Given the description of an element on the screen output the (x, y) to click on. 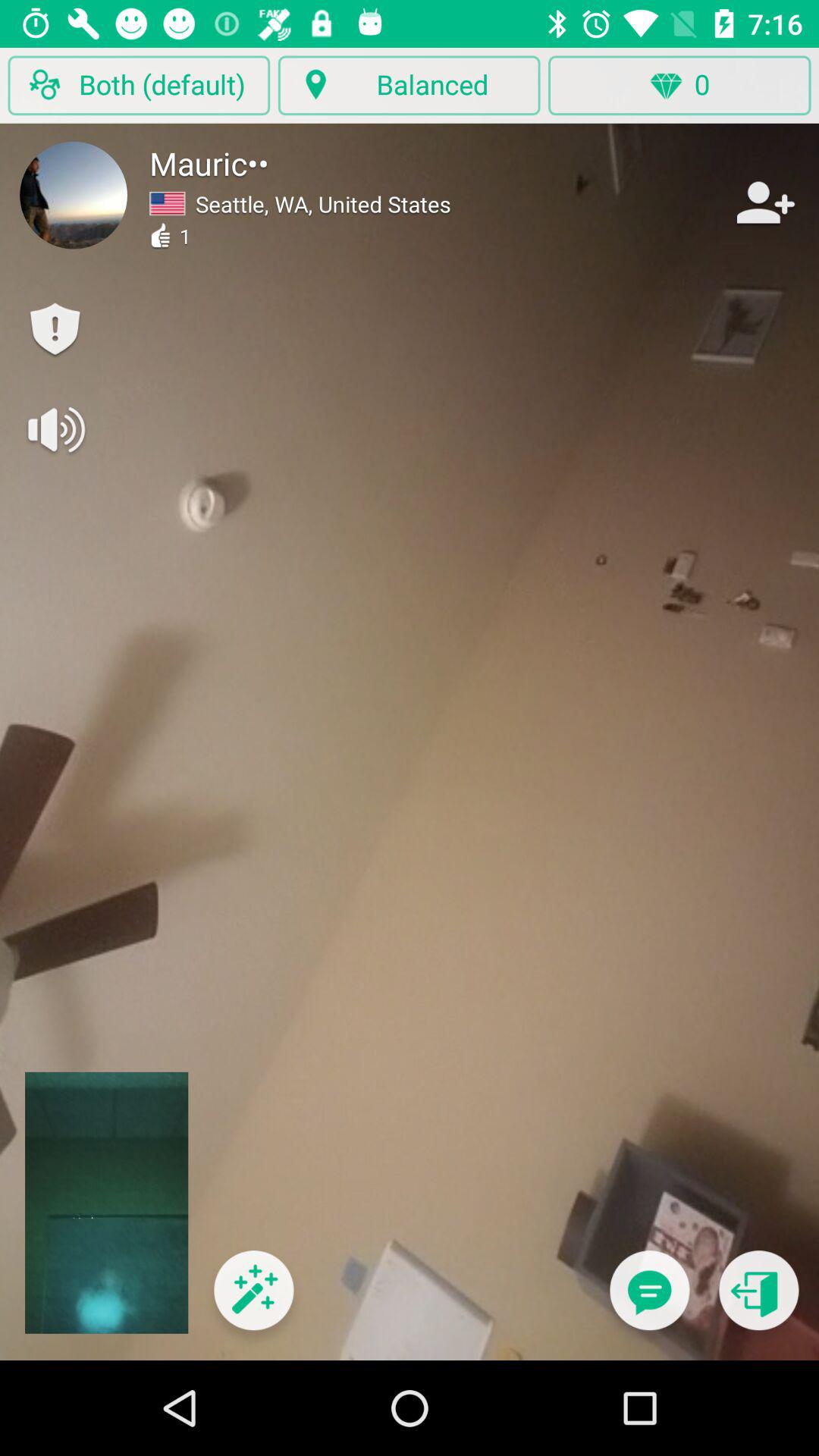
go back (758, 1300)
